Given the description of an element on the screen output the (x, y) to click on. 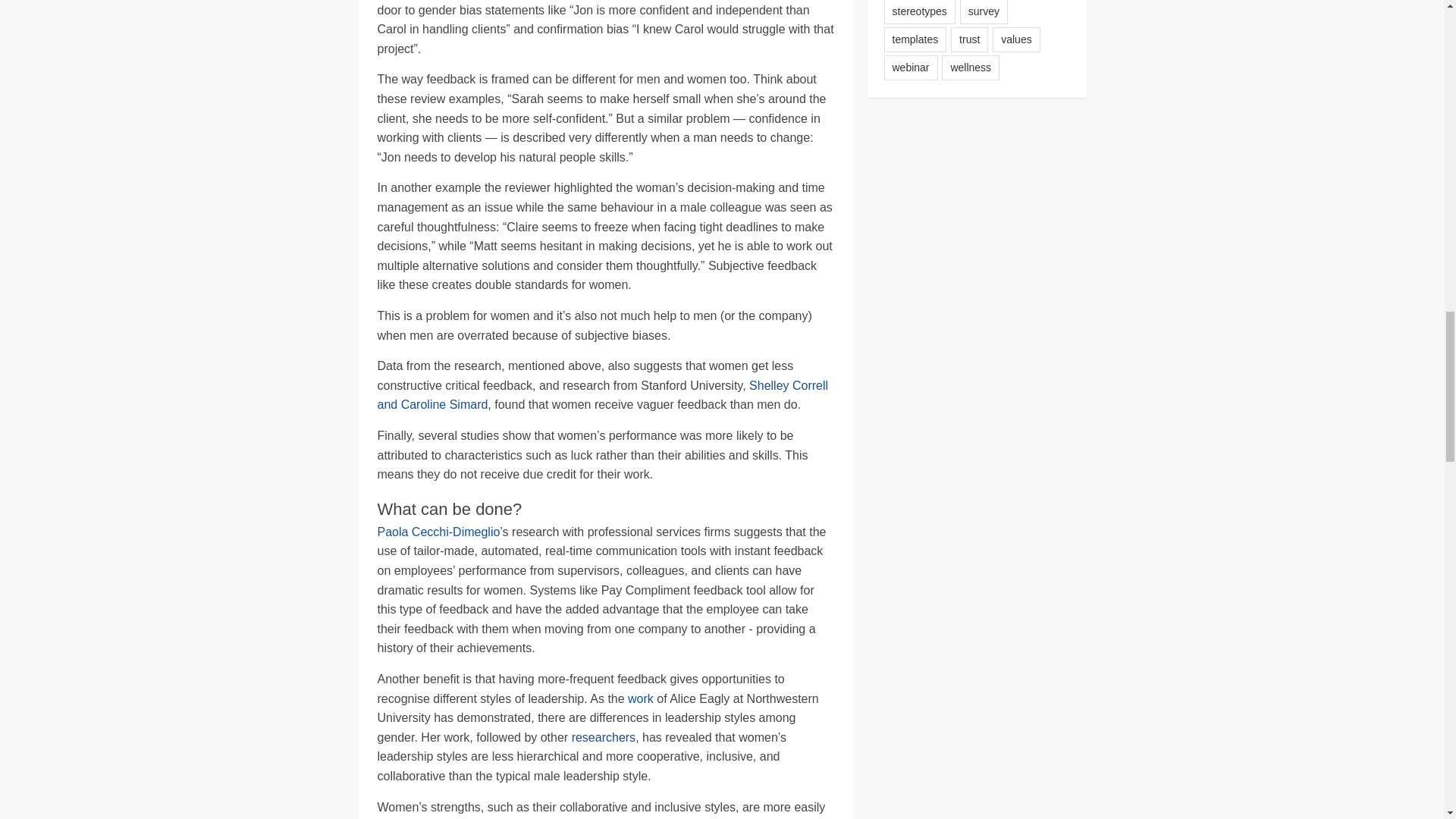
work (640, 698)
researchers (603, 737)
Shelley Correll and Caroline Simard (602, 395)
Paola Cecchi-Dimeglio (438, 531)
